Given the description of an element on the screen output the (x, y) to click on. 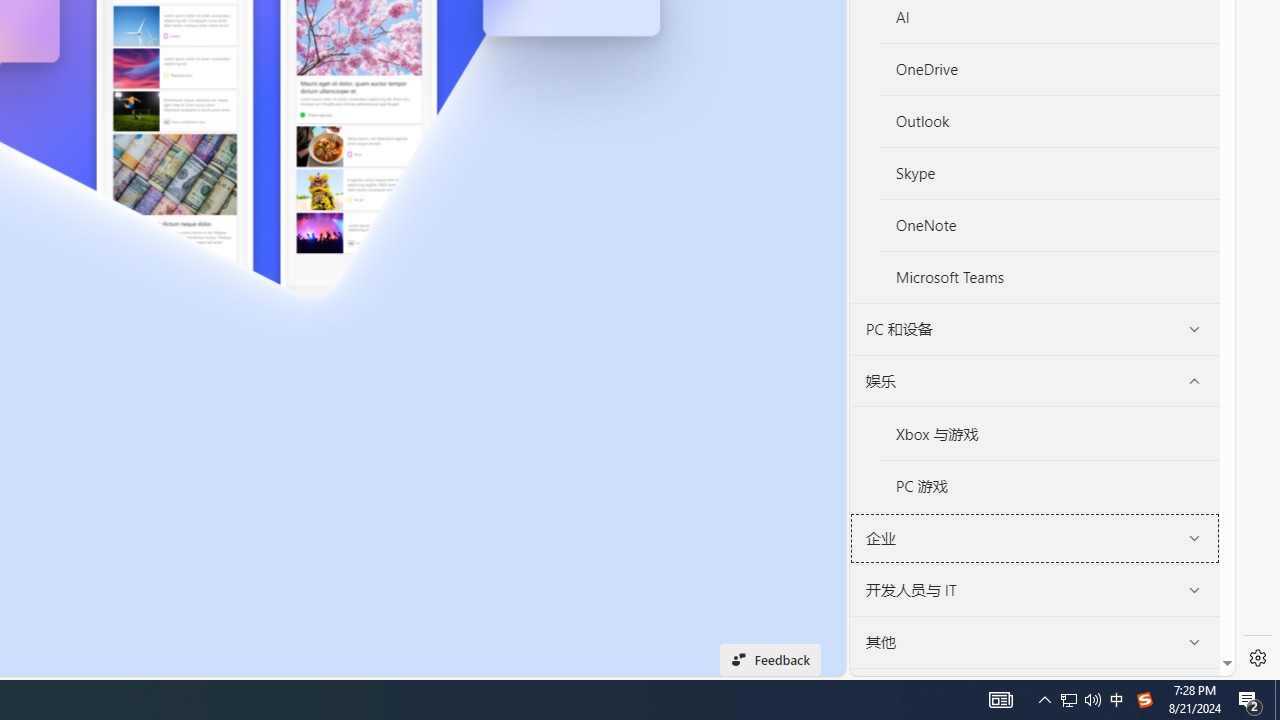
Microsoft Teams (1049, 276)
OneDrive (1049, 69)
OneDrive (1049, 69)
Skype (1049, 174)
